Given the description of an element on the screen output the (x, y) to click on. 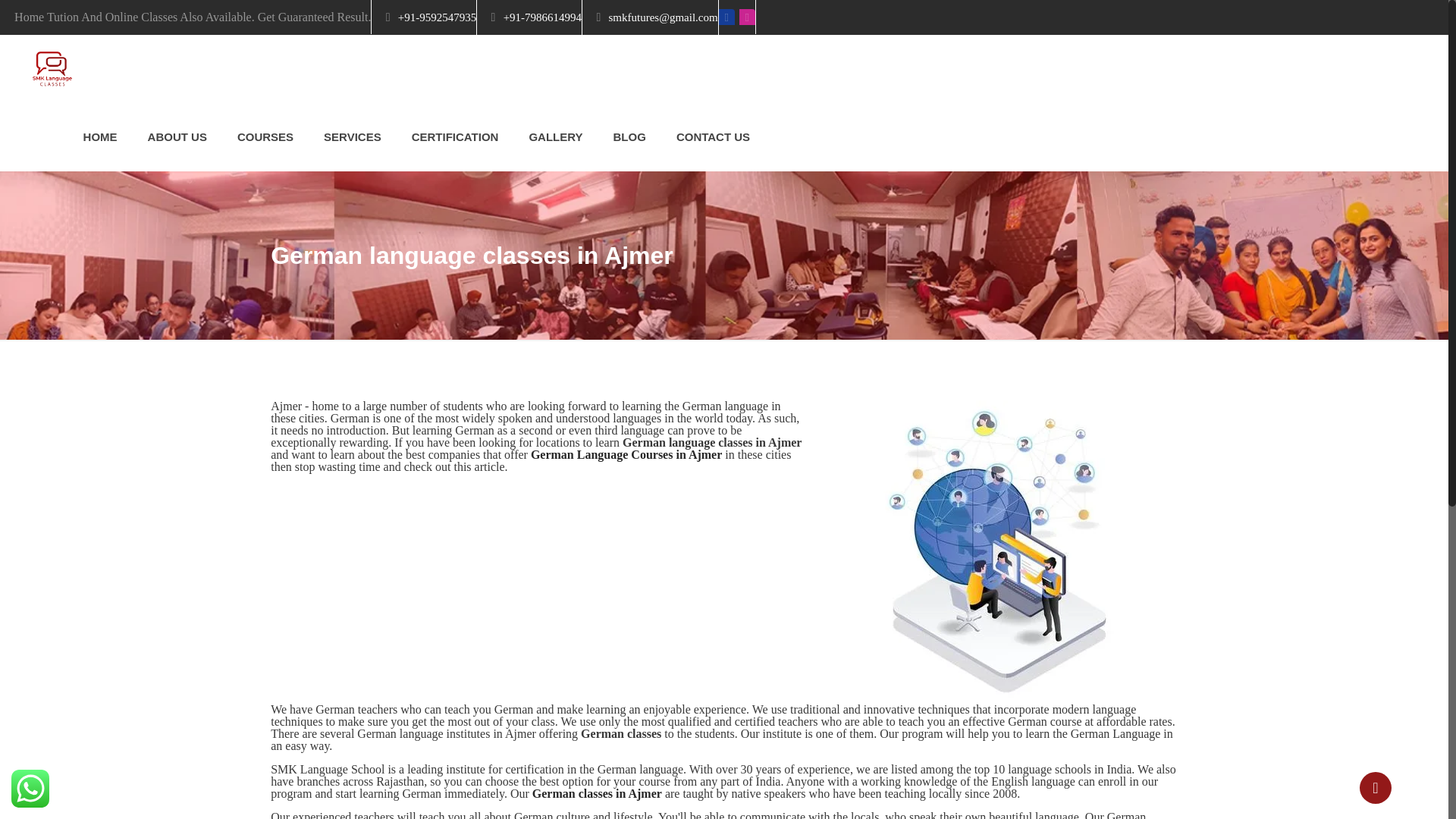
COURSES (265, 137)
ABOUT US (177, 137)
German Language Courses in Ajmer (626, 454)
BLOG (629, 137)
German Language Courses in Ajmer (621, 733)
German language classes in Ajmer (712, 441)
CONTACT US (713, 137)
SERVICES (352, 137)
Facebook (727, 17)
Instagram (747, 17)
HOME (100, 137)
CERTIFICATION (454, 137)
German Language Courses in Ajmer (626, 454)
German classes in Ajmer (597, 793)
GALLERY (554, 137)
